Given the description of an element on the screen output the (x, y) to click on. 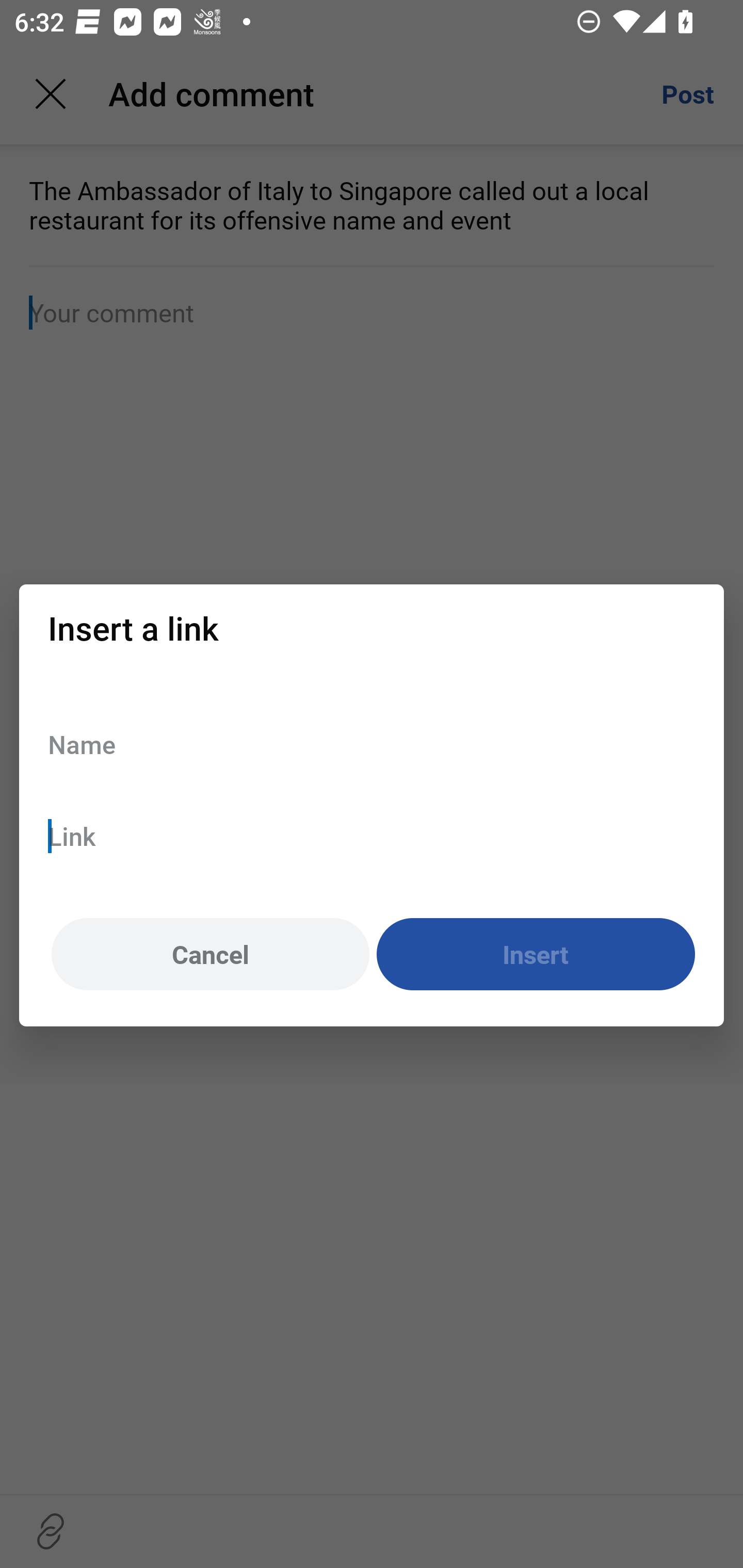
Name (371, 743)
Link (371, 835)
Cancel (210, 954)
Insert (535, 954)
